Given the description of an element on the screen output the (x, y) to click on. 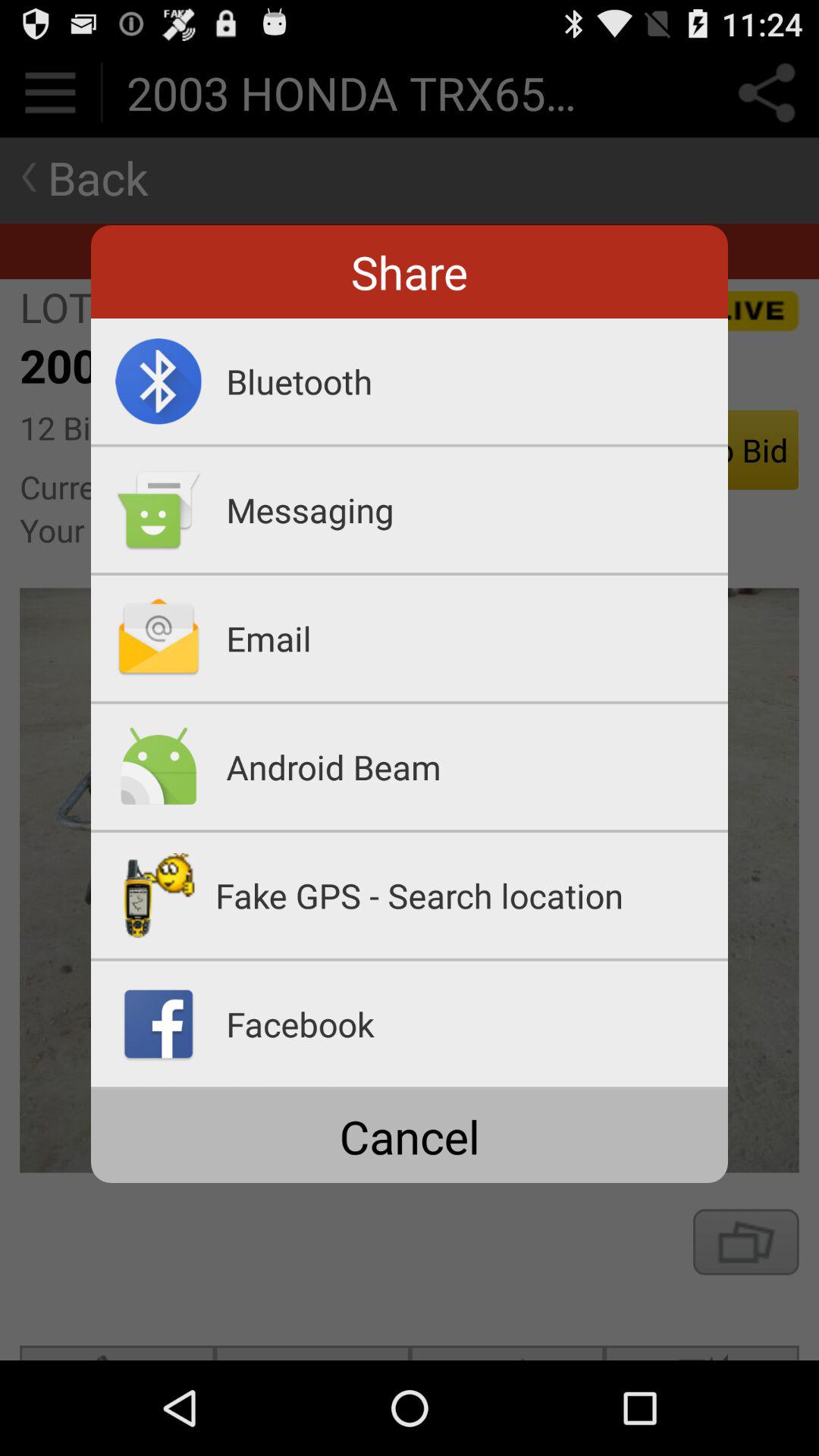
scroll to the email item (477, 638)
